Given the description of an element on the screen output the (x, y) to click on. 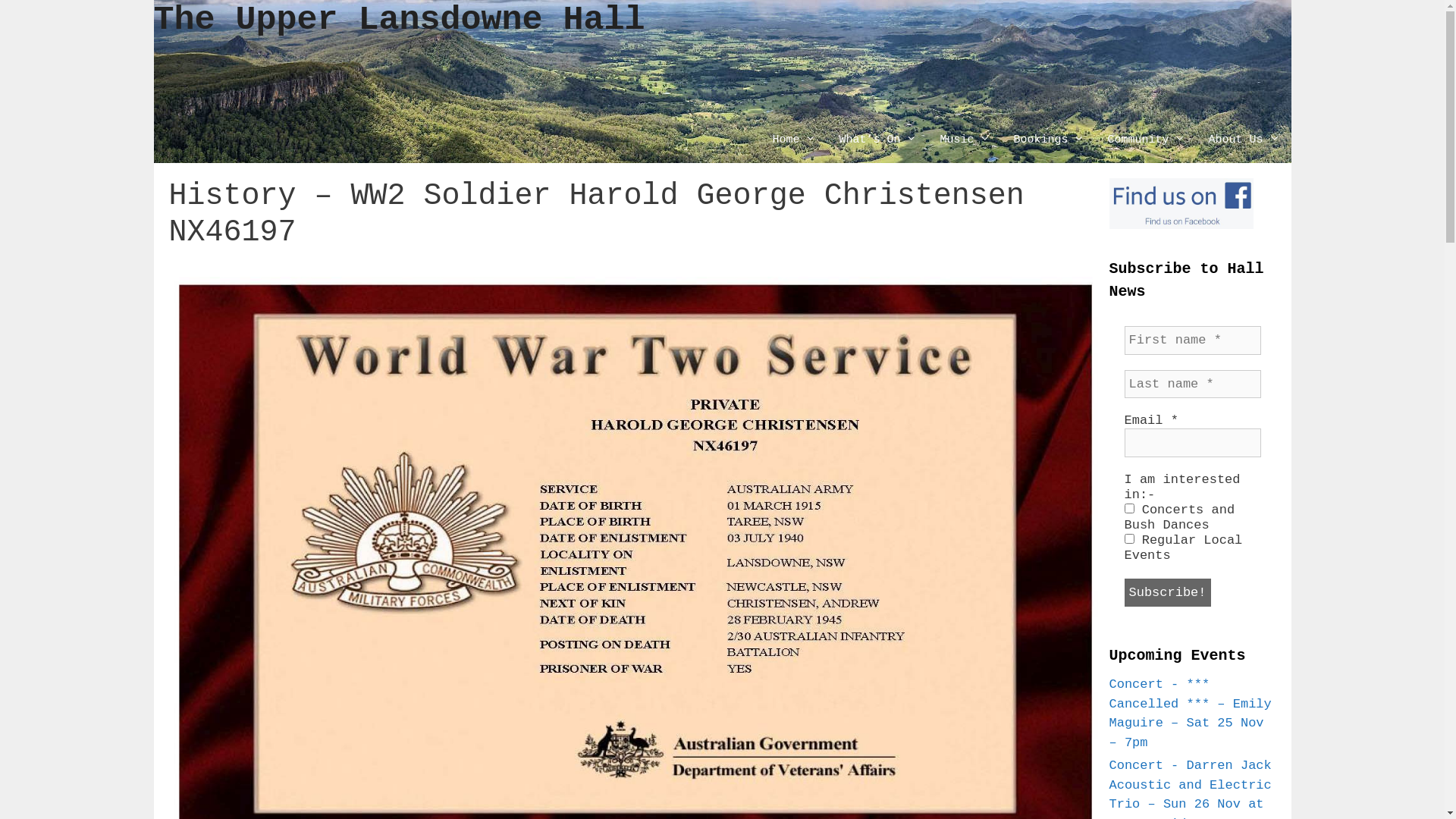
First name Element type: hover (1191, 340)
Community Element type: text (1145, 139)
Last name Element type: hover (1191, 384)
Subscribe! Element type: text (1166, 592)
Music Element type: text (964, 139)
About Us Element type: text (1243, 139)
Home Element type: text (793, 139)
Bookings Element type: text (1048, 139)
The Upper Lansdowne Hall Element type: text (398, 19)
Email Element type: hover (1191, 442)
